Given the description of an element on the screen output the (x, y) to click on. 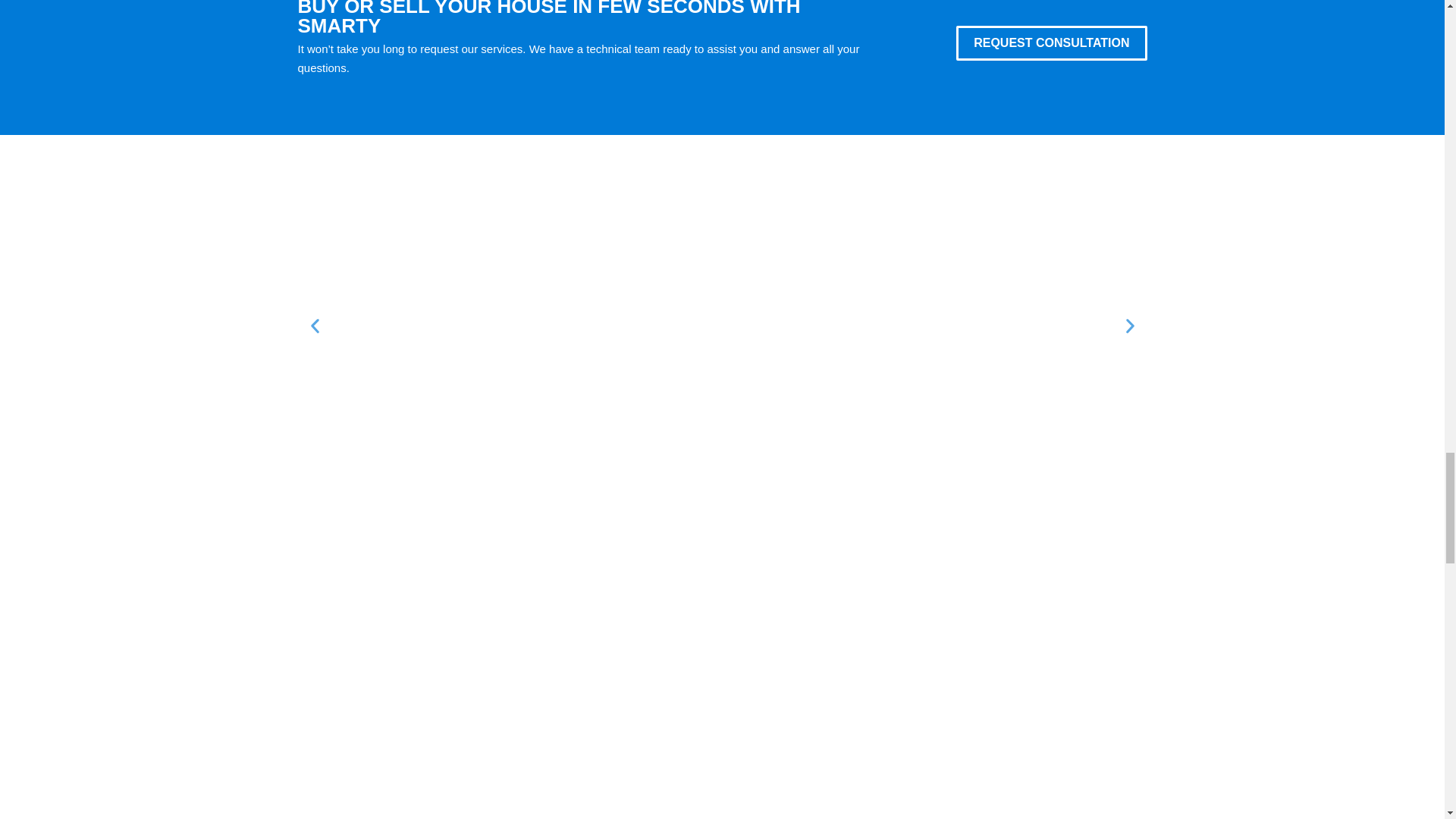
REQUEST CONSULTATION (1051, 42)
